Given the description of an element on the screen output the (x, y) to click on. 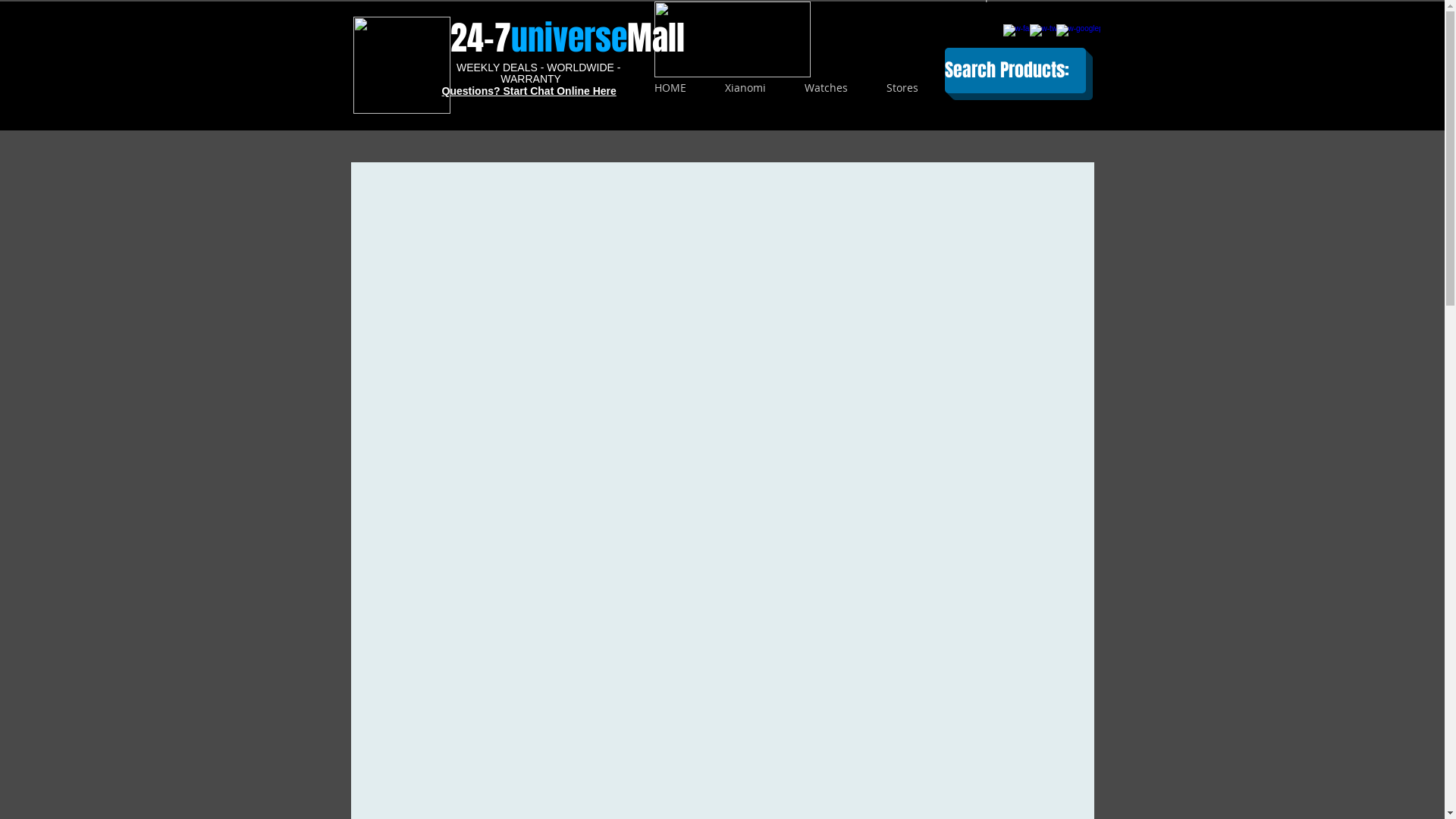
Search Products: Element type: text (1014, 70)
Questions? Start Chat Online Here Element type: text (529, 90)
Watches Element type: text (826, 87)
24-7universeMall Element type: text (567, 37)
Xianomi Element type: text (744, 87)
HOME Element type: text (669, 87)
